Given the description of an element on the screen output the (x, y) to click on. 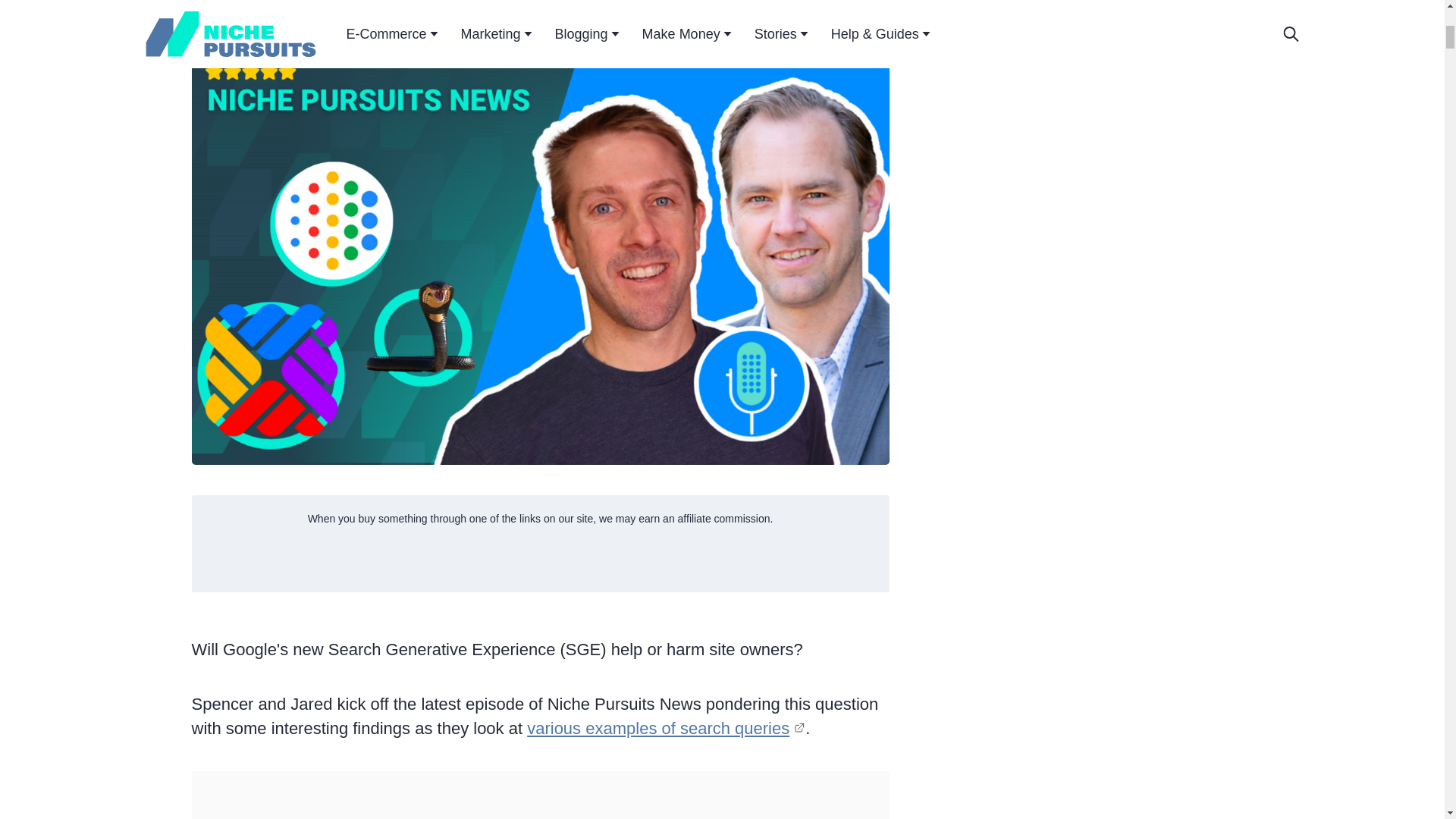
various examples of search queries (666, 728)
